Given the description of an element on the screen output the (x, y) to click on. 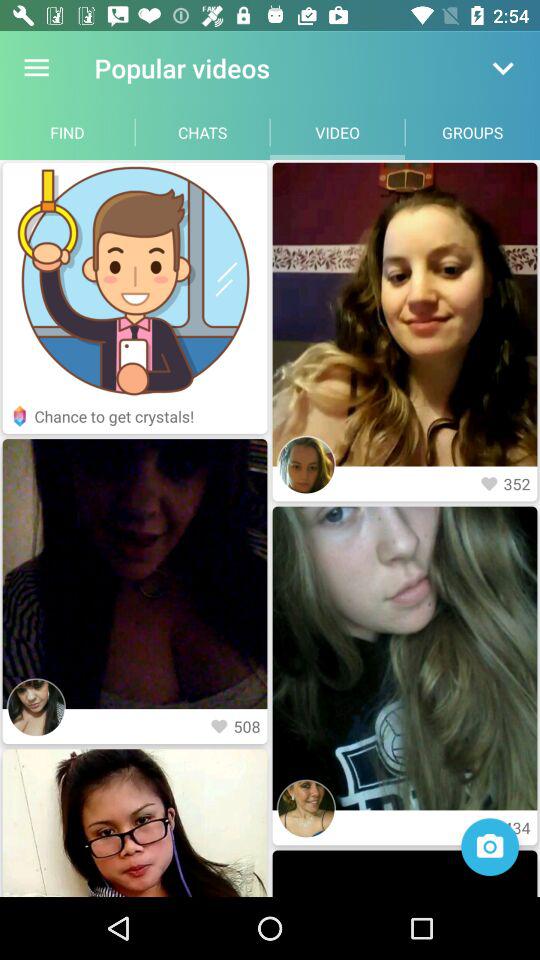
turn off item next to the chats item (67, 132)
